Given the description of an element on the screen output the (x, y) to click on. 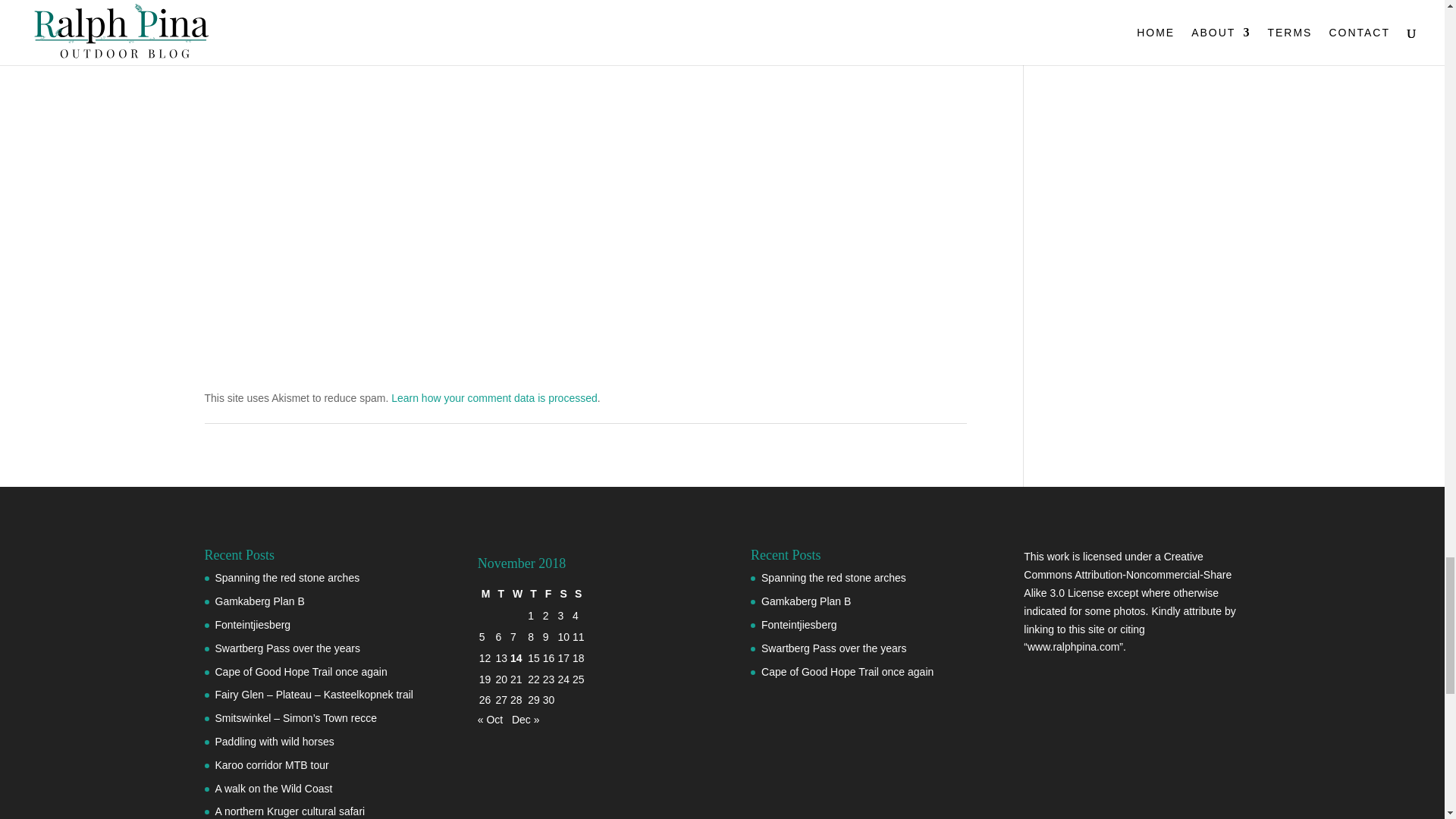
Learn how your comment data is processed (493, 398)
